Given the description of an element on the screen output the (x, y) to click on. 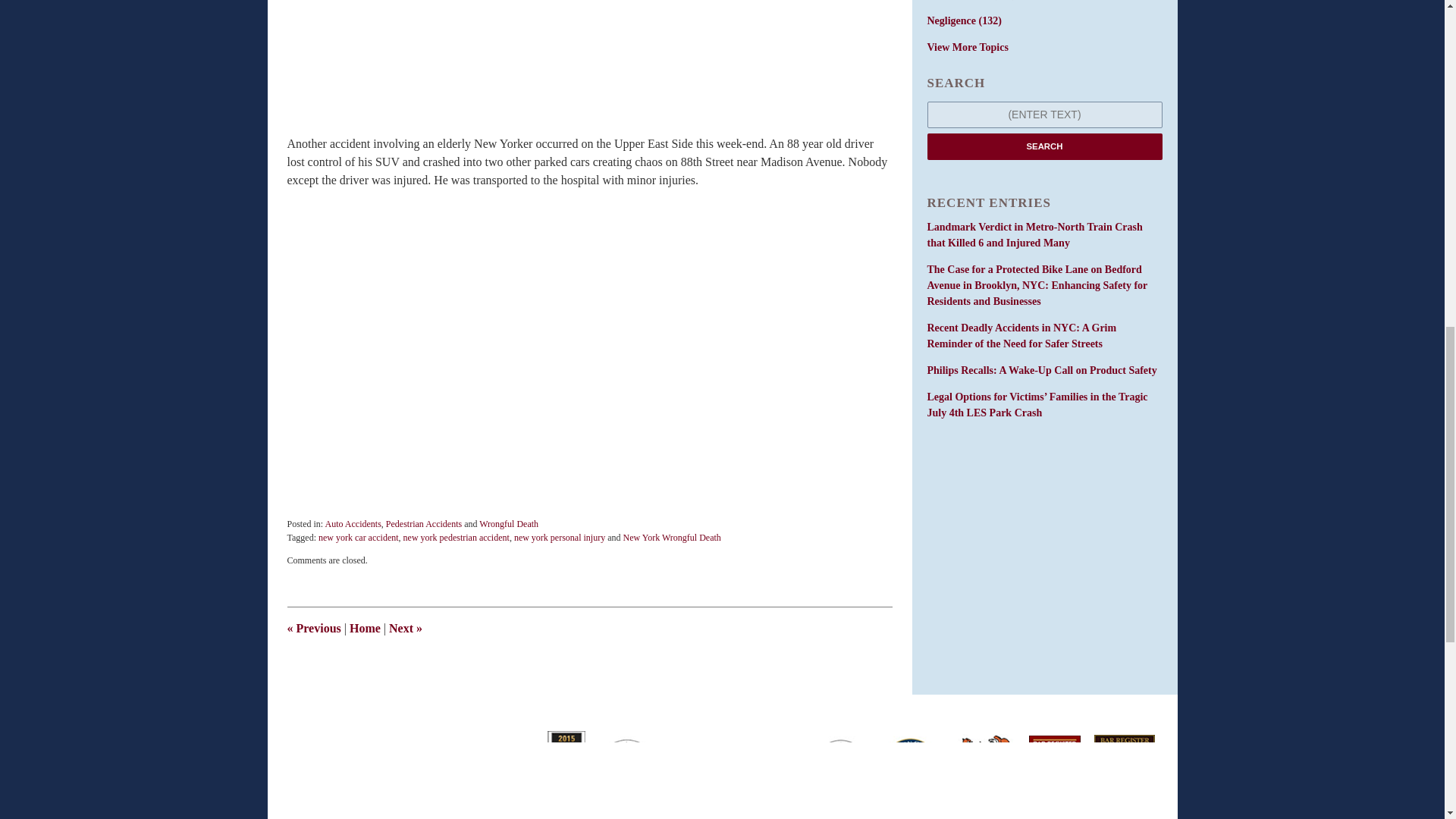
Auto Accidents (352, 523)
new york personal injury (559, 537)
New York Wrongful Death (671, 537)
View all posts tagged with new york personal injury (559, 537)
new york pedestrian accident (456, 537)
View all posts in Auto Accidents (352, 523)
View all posts in Wrongful Death (508, 523)
new york car accident (358, 537)
Home (364, 627)
Wrongful Death (508, 523)
View all posts tagged with New York Wrongful Death (671, 537)
View all posts in Pedestrian Accidents (423, 523)
View all posts tagged with new york car accident (358, 537)
